Given the description of an element on the screen output the (x, y) to click on. 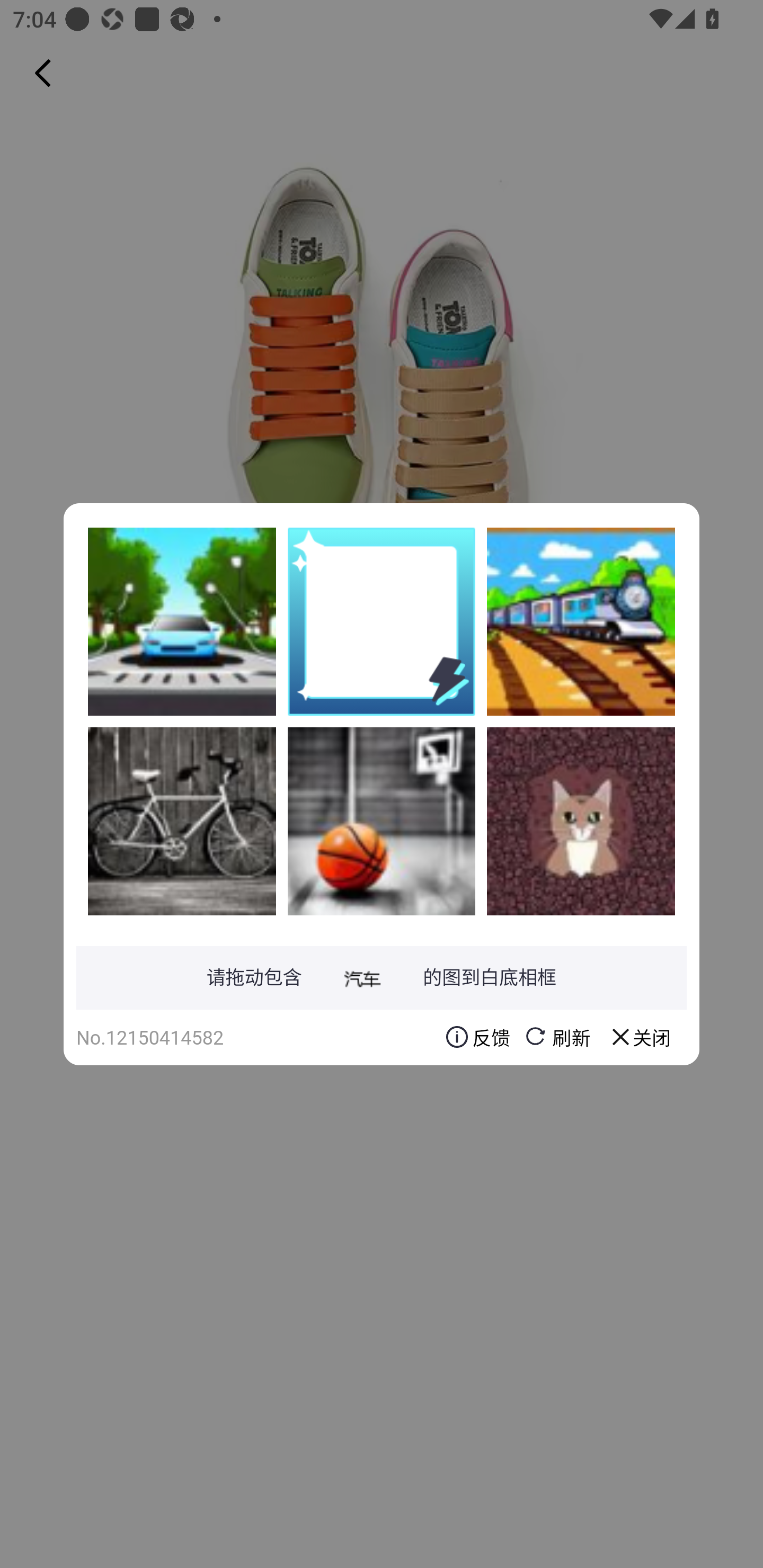
DD+WhvPtr3 (181, 621)
isEgATZ9 (580, 621)
